Given the description of an element on the screen output the (x, y) to click on. 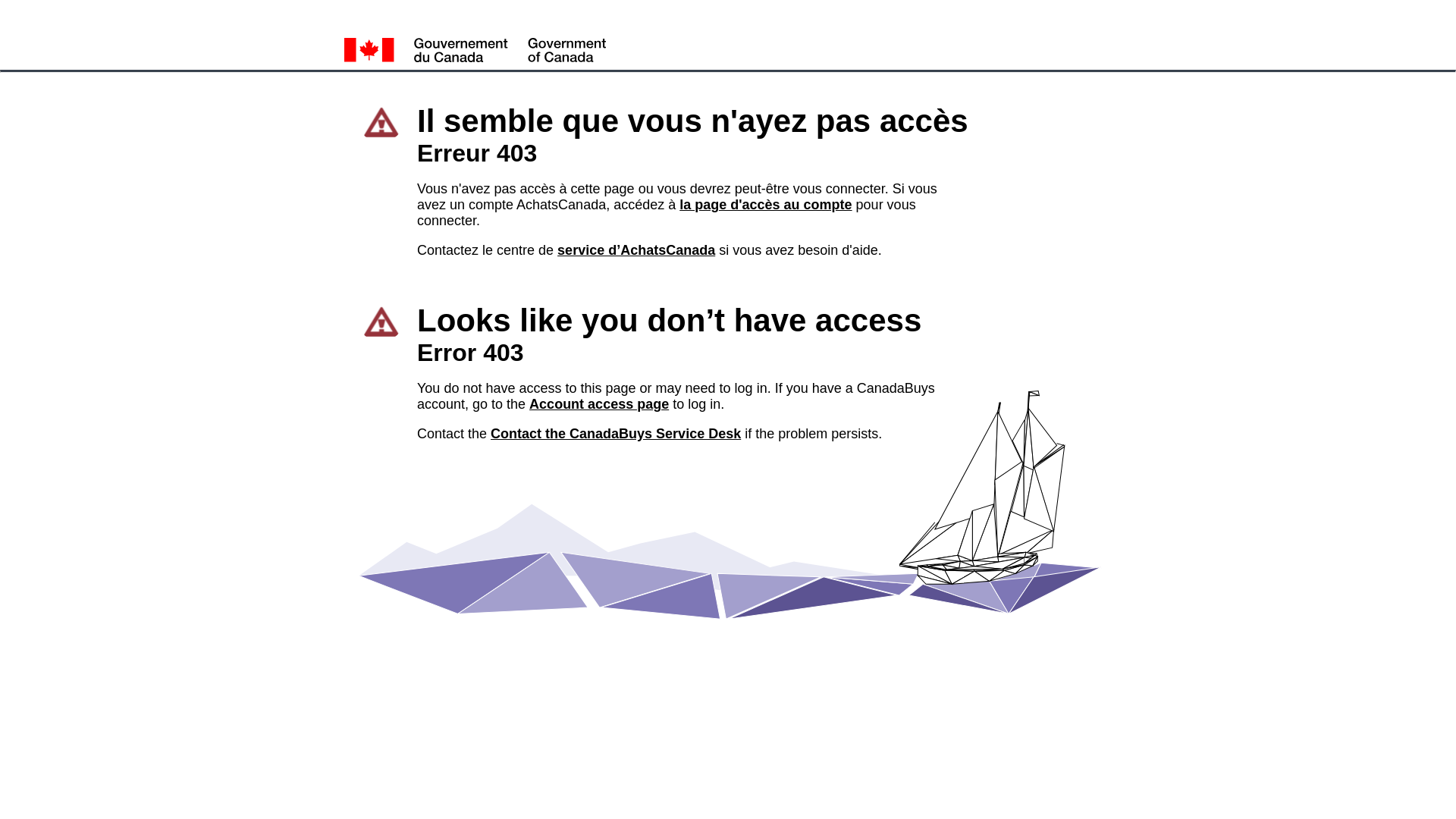
Account access page (598, 403)
Contact the CanadaBuys Service Desk (615, 433)
